Given the description of an element on the screen output the (x, y) to click on. 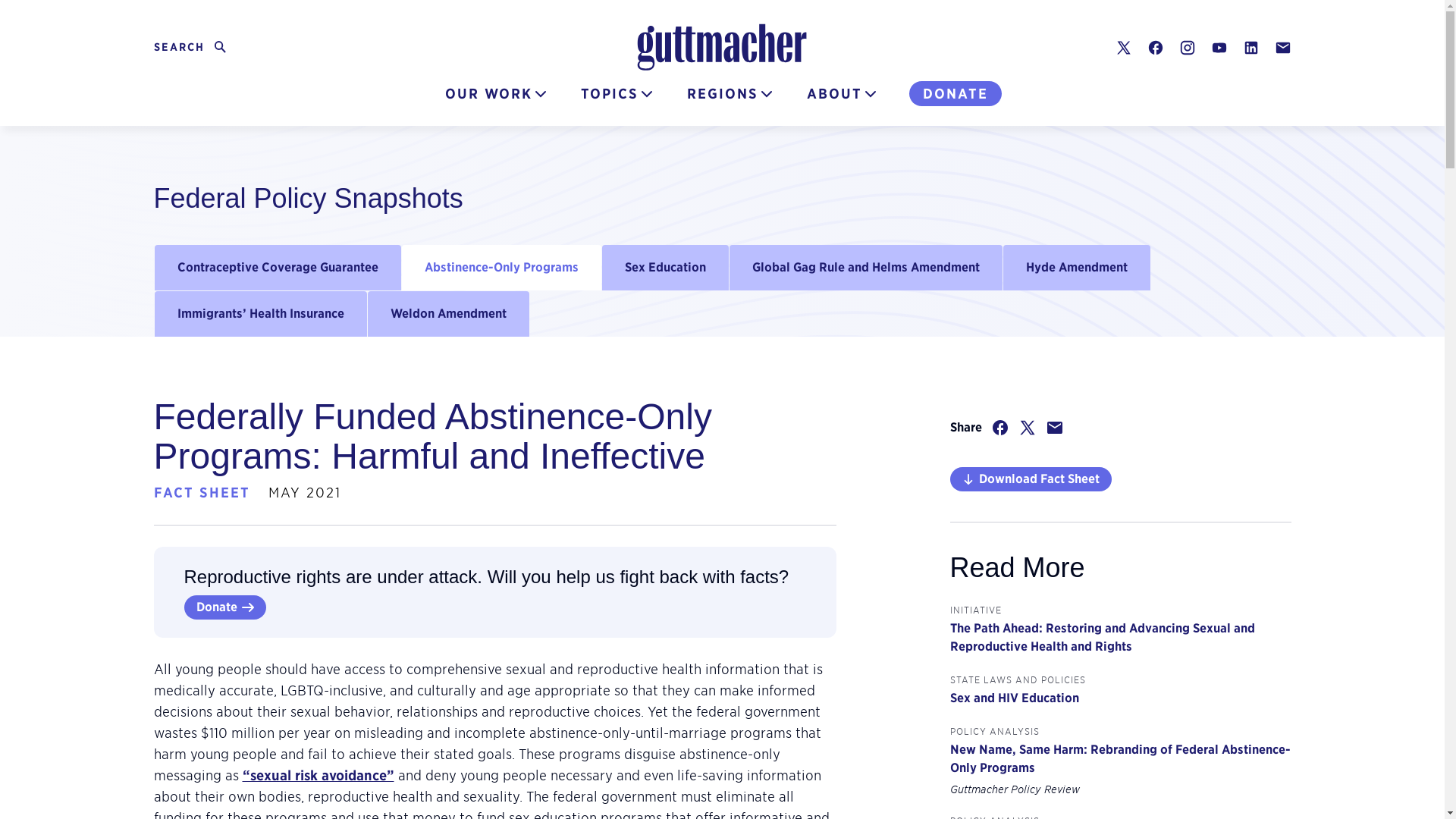
Contact (1282, 47)
Instagram (1186, 47)
LinkedIn (1250, 47)
Skip to main content (17, 9)
abstinence-only-programs-fact-sheet.pdf (1029, 478)
TOPICS (617, 93)
Youtube (1218, 47)
Facebook (1155, 47)
OUR WORK (495, 93)
Twitter (191, 46)
